Given the description of an element on the screen output the (x, y) to click on. 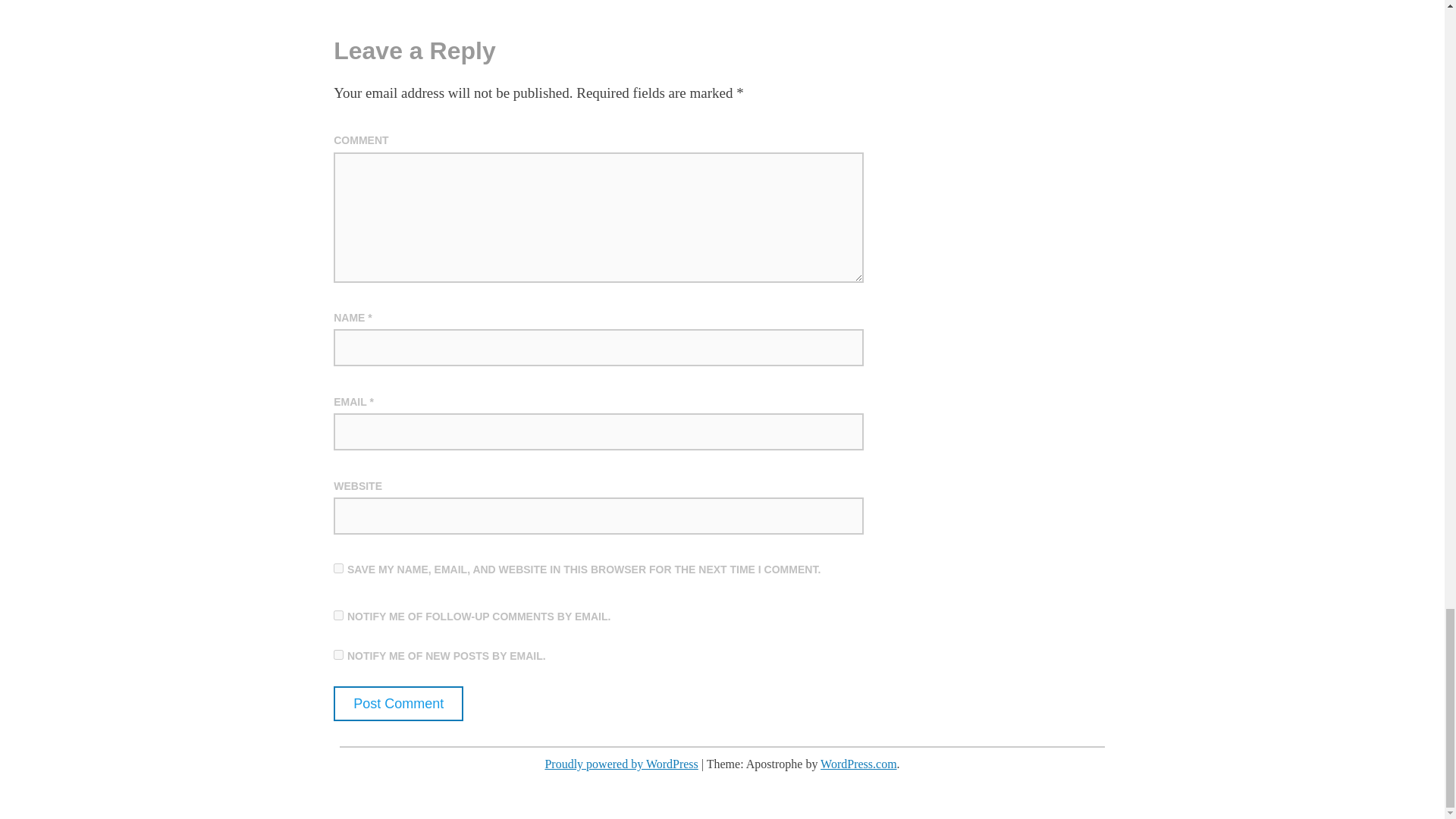
subscribe (338, 614)
Post Comment (398, 703)
yes (338, 568)
subscribe (338, 655)
